Given the description of an element on the screen output the (x, y) to click on. 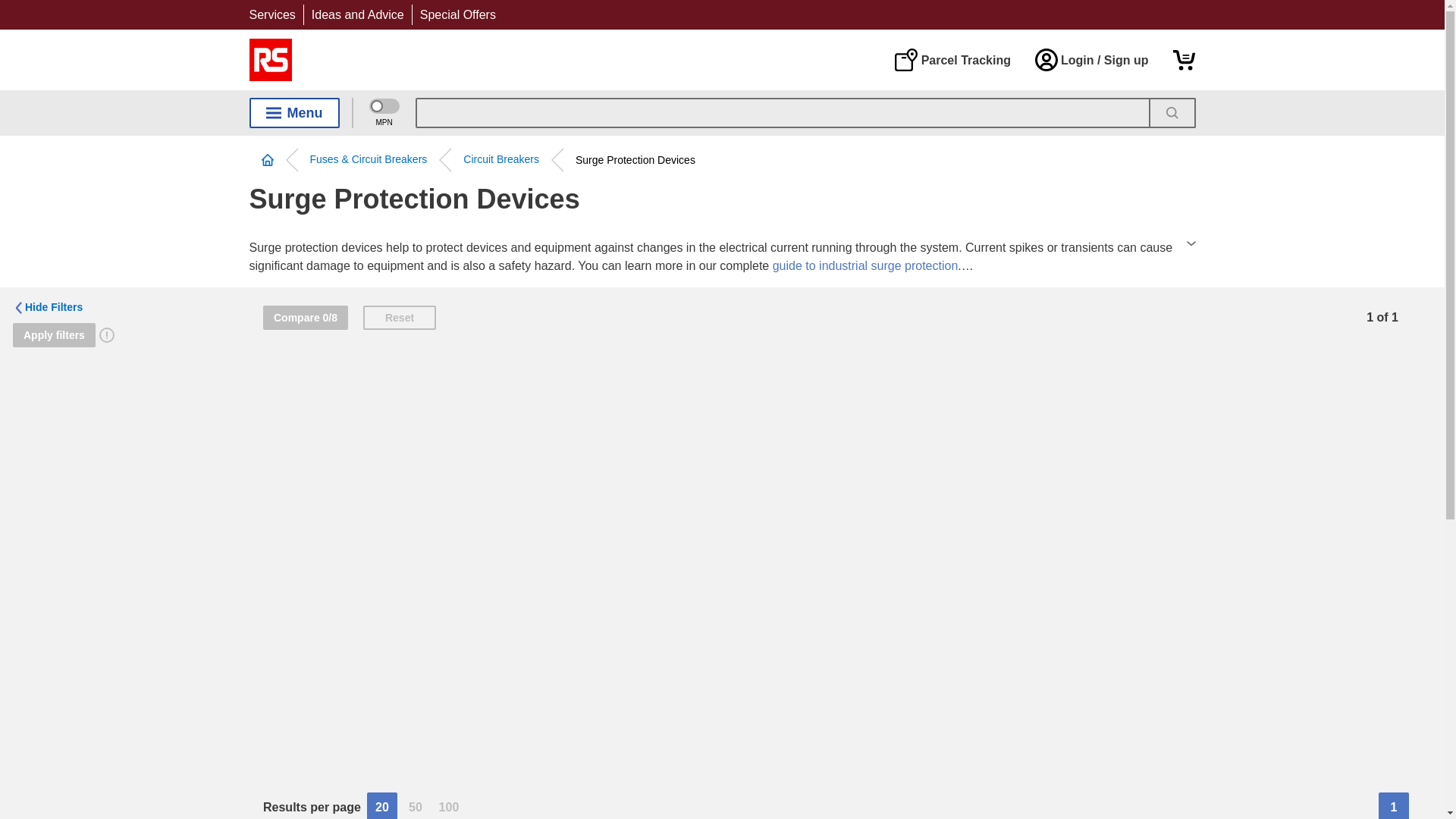
Special Offers (458, 14)
Menu (293, 112)
Ideas and Advice (357, 14)
Parcel Tracking (951, 59)
Services (271, 14)
